Given the description of an element on the screen output the (x, y) to click on. 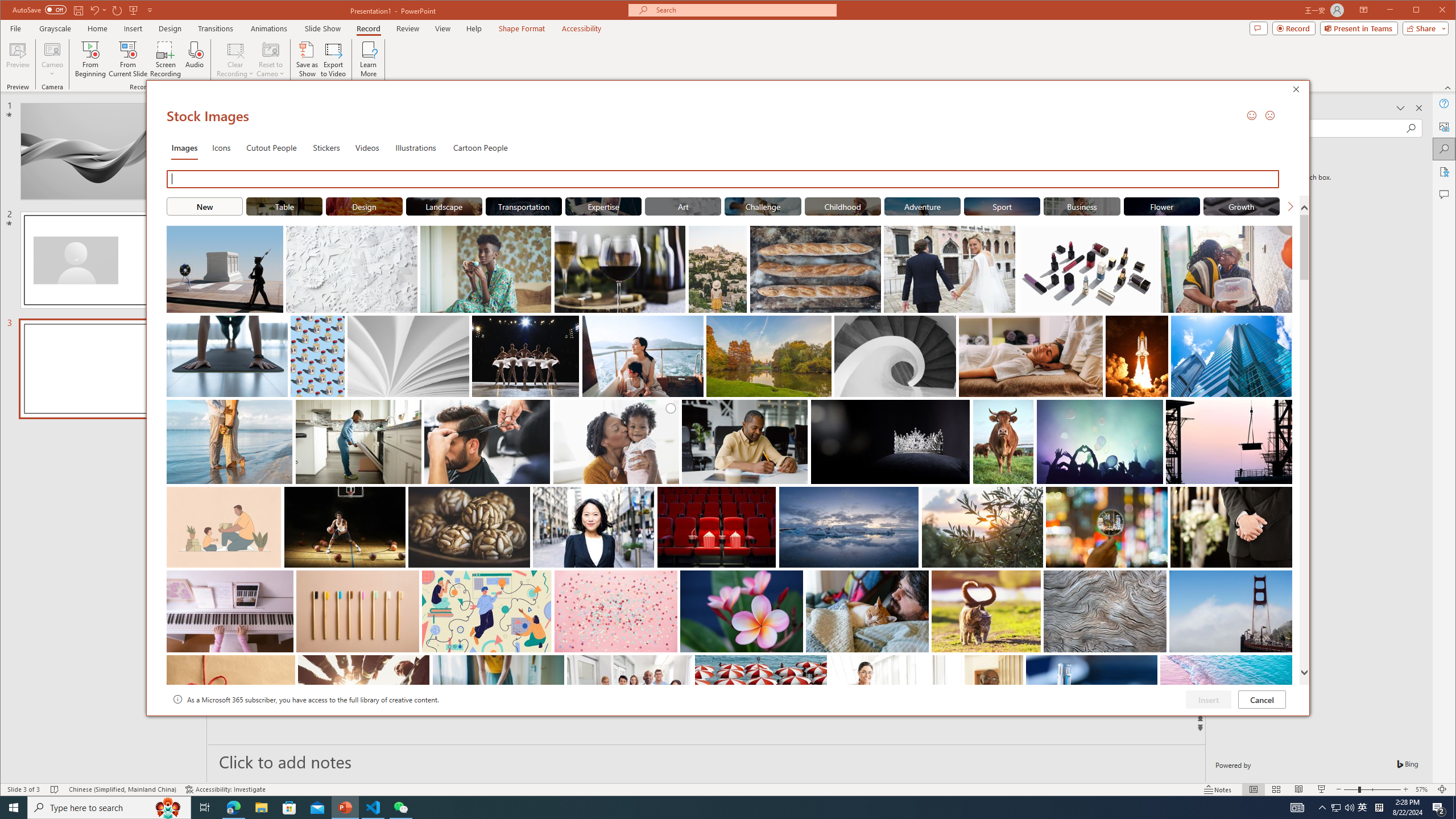
Microsoft Edge - 1 running window (233, 807)
Clear Recording (234, 59)
Illustrations (415, 147)
Slide Notes (706, 761)
Alt Text (1444, 125)
Export to Video (333, 59)
